Given the description of an element on the screen output the (x, y) to click on. 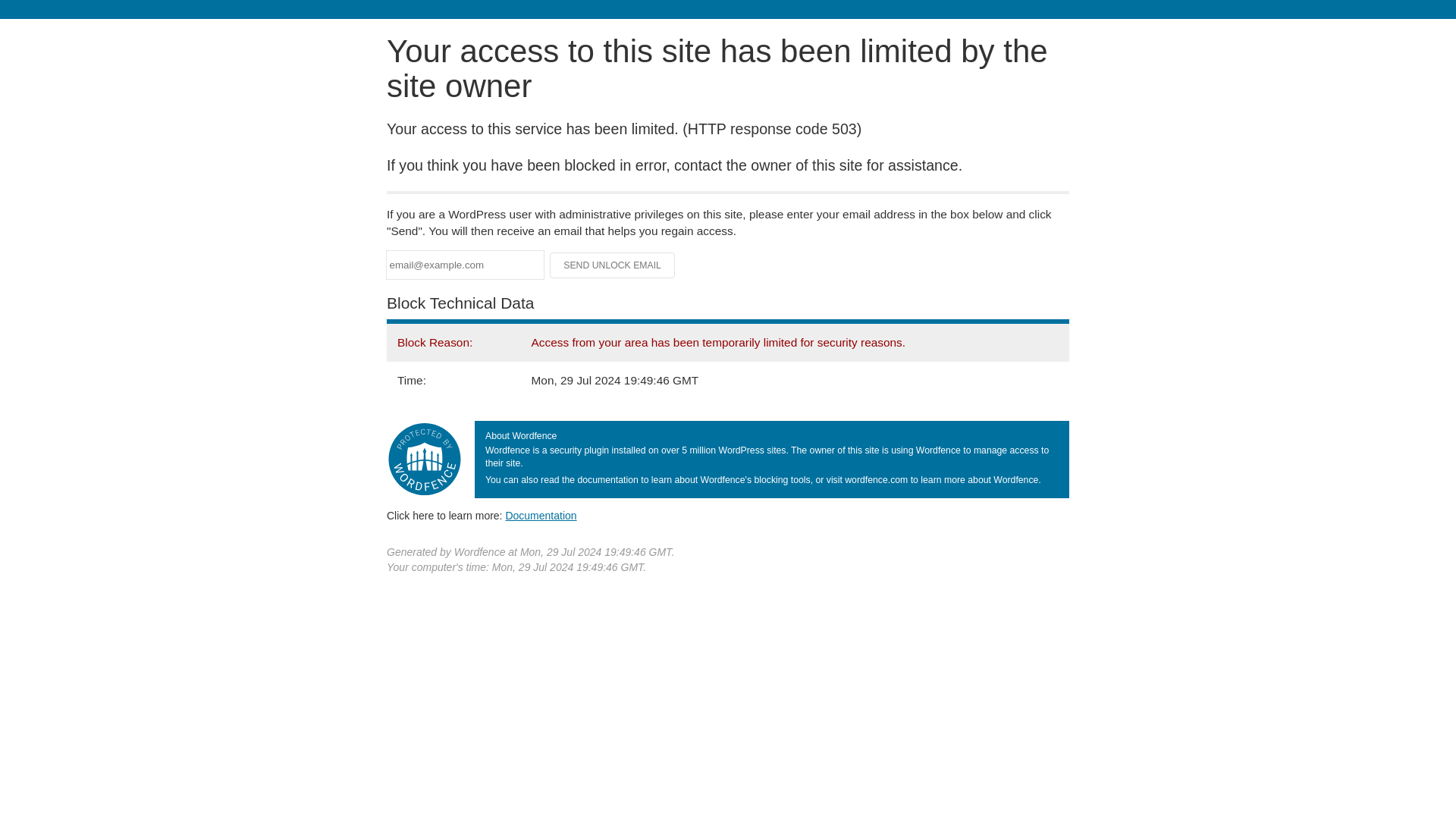
Send Unlock Email (612, 265)
Send Unlock Email (612, 265)
Documentation (540, 515)
